Given the description of an element on the screen output the (x, y) to click on. 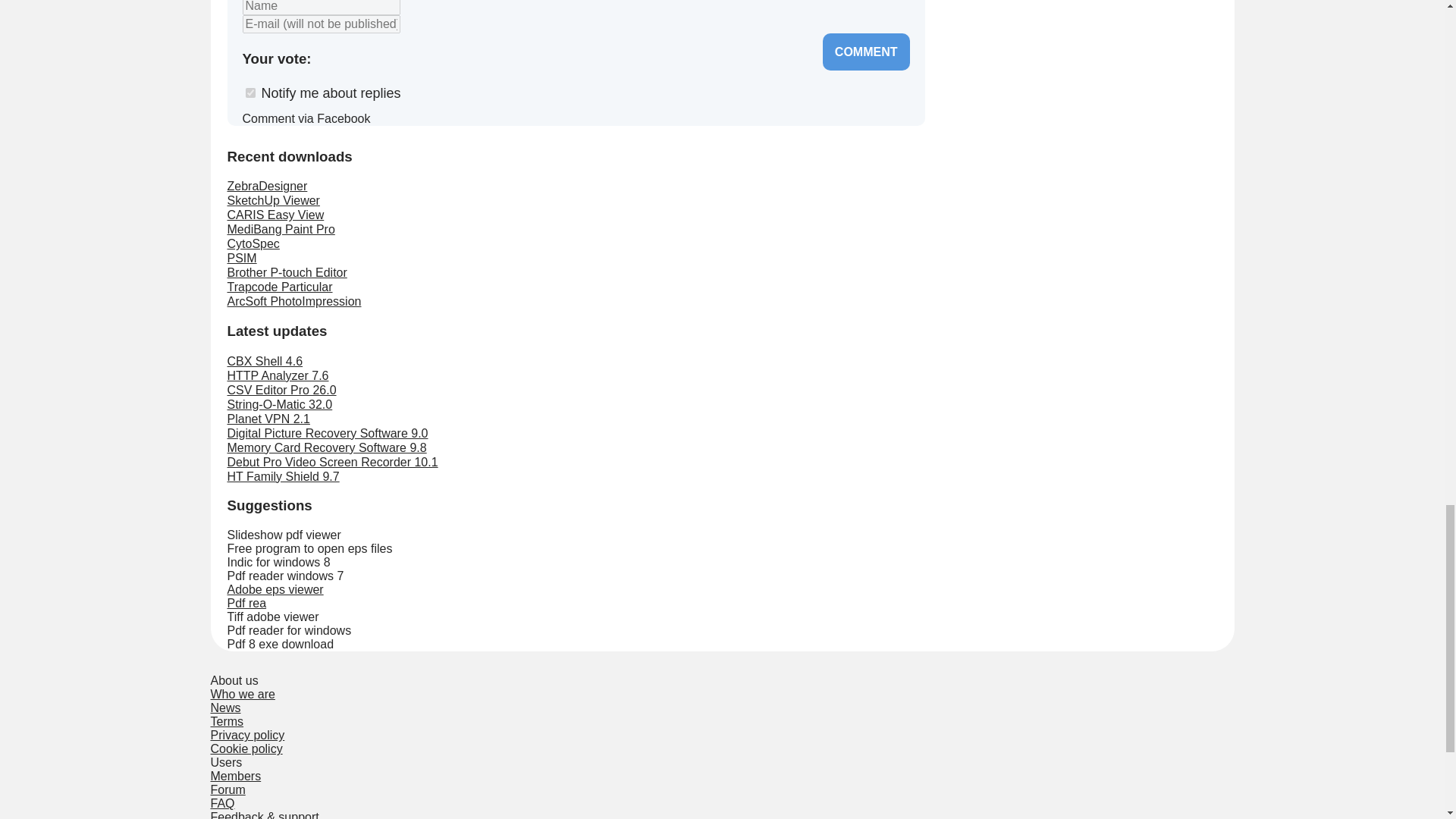
5 (420, 57)
3 (371, 57)
1 (323, 57)
4 (396, 57)
1 (251, 92)
2 (347, 57)
Comment (866, 51)
